Given the description of an element on the screen output the (x, y) to click on. 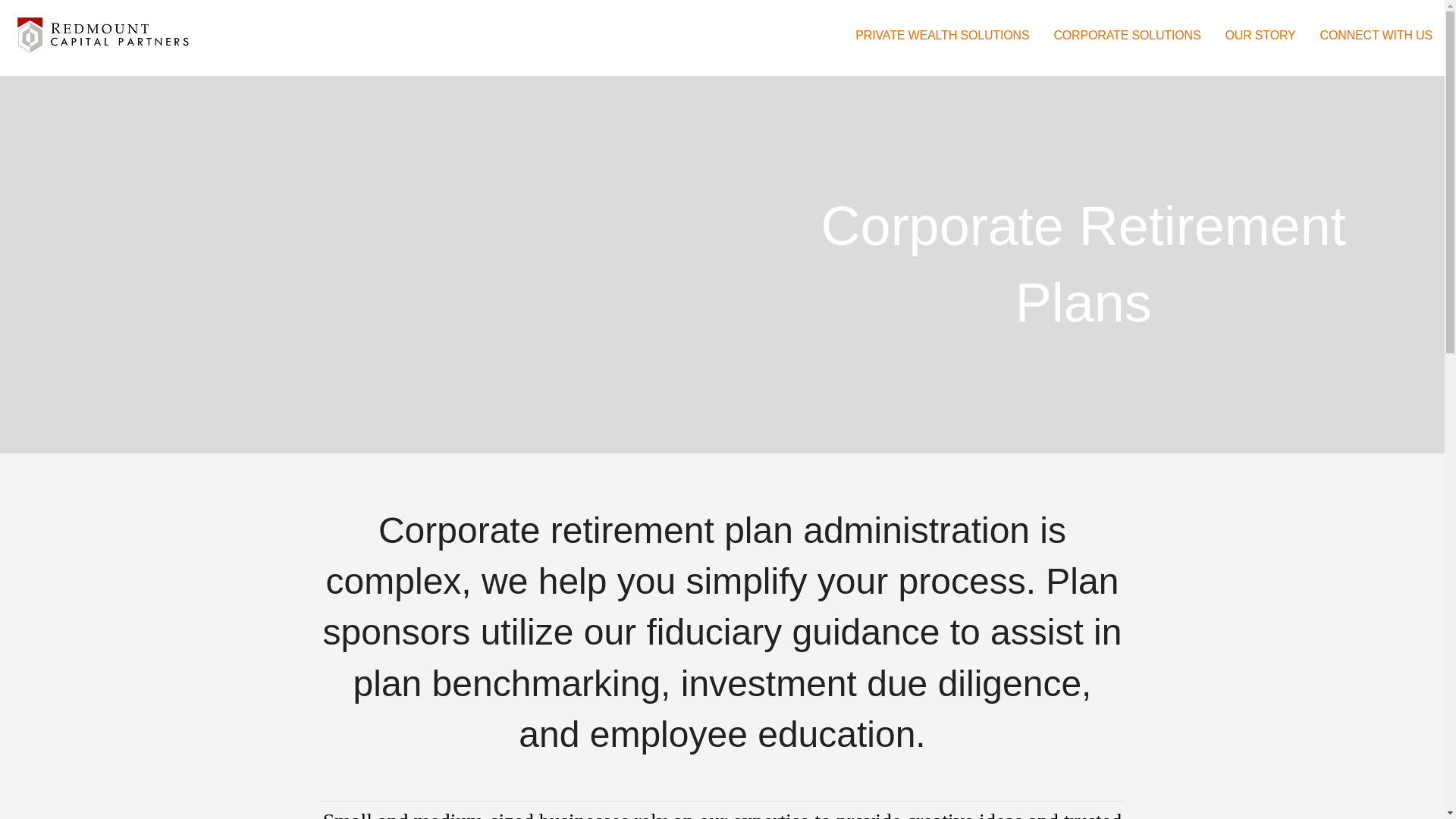
PRIVATE WEALTH SOLUTIONS (942, 36)
OUR STORY (1259, 36)
CORPORATE SOLUTIONS (1126, 36)
REDMOUNT CAPITAL PARTNERS (149, 66)
